Given the description of an element on the screen output the (x, y) to click on. 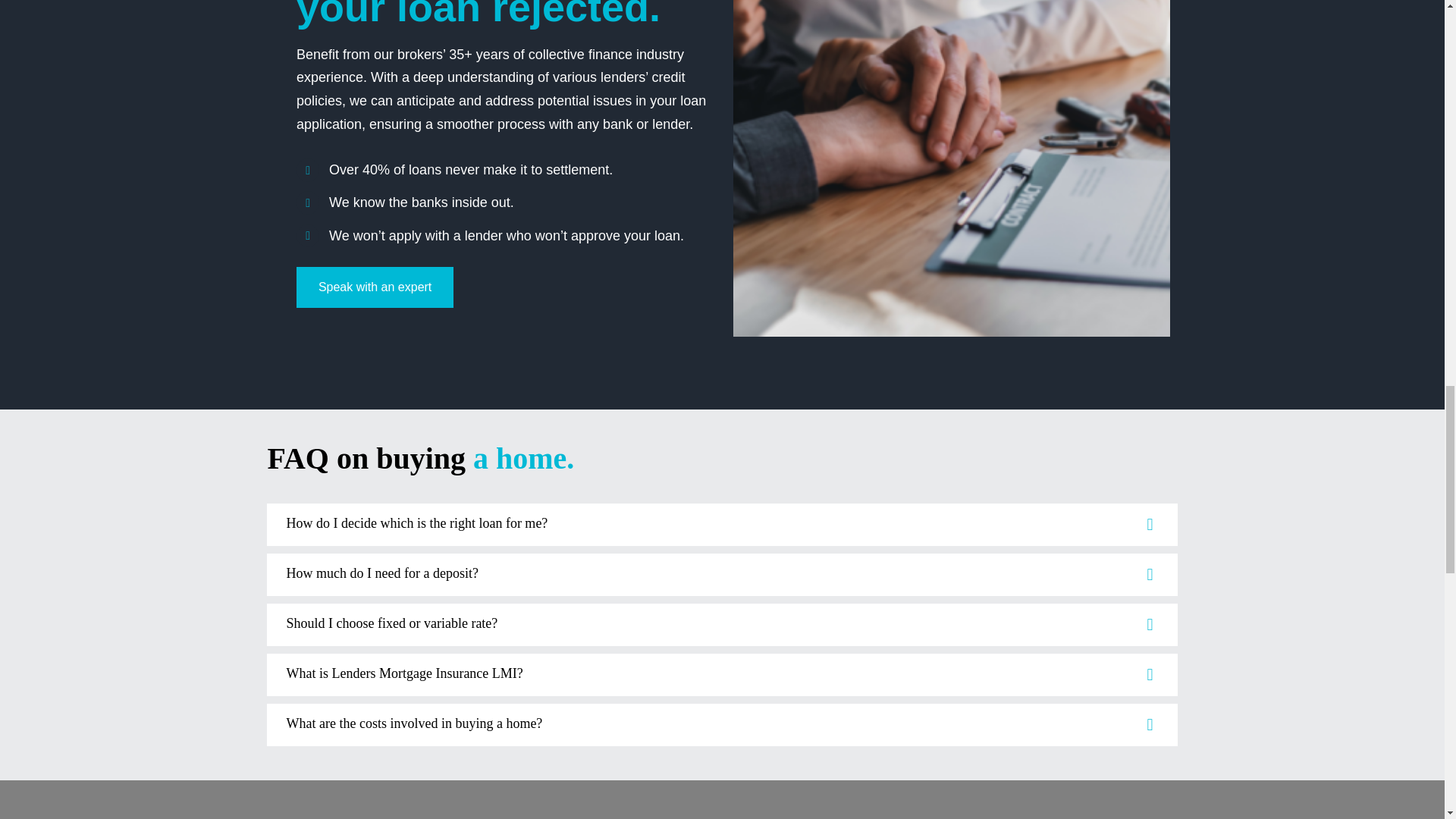
Speak with an expert (374, 286)
What is Lenders Mortgage Insurance LMI? (721, 674)
How do I decide which is the right loan for me? (721, 524)
Should I choose fixed or variable rate? (721, 624)
How much do I need for a deposit? (721, 574)
What are the costs involved in buying a home? (721, 724)
